Given the description of an element on the screen output the (x, y) to click on. 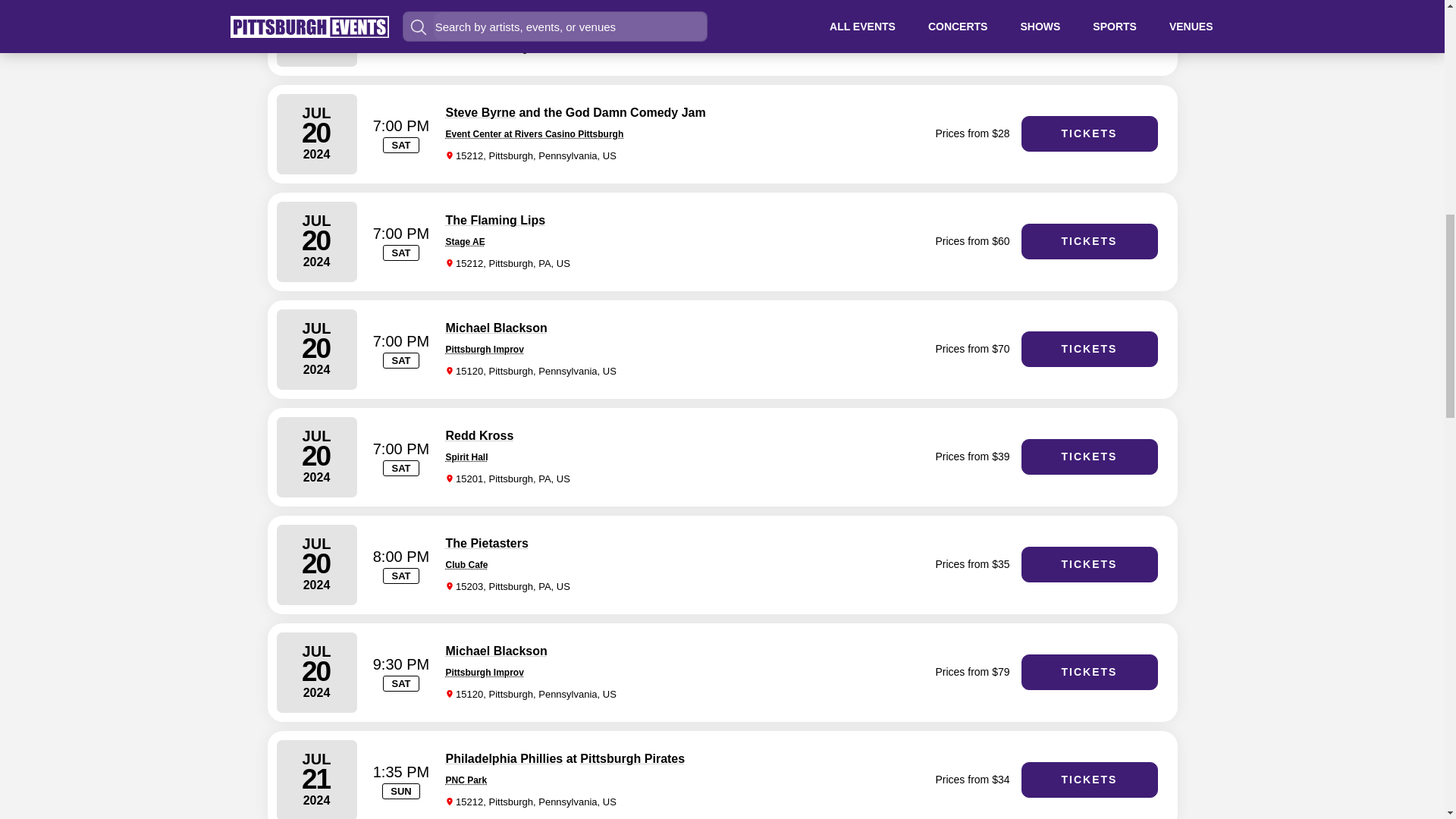
TICKETS (1088, 241)
TICKETS (1088, 26)
The Flaming Lips (495, 219)
Pittsburgh Improv (484, 348)
TICKETS (1088, 133)
Hartford Athletic (675, 5)
Steve Byrne (480, 112)
Pittsburgh Riverhounds (514, 5)
Event Center at Rivers Casino Pittsburgh (534, 133)
Michael Blackson (496, 327)
Stage AE (464, 241)
